Given the description of an element on the screen output the (x, y) to click on. 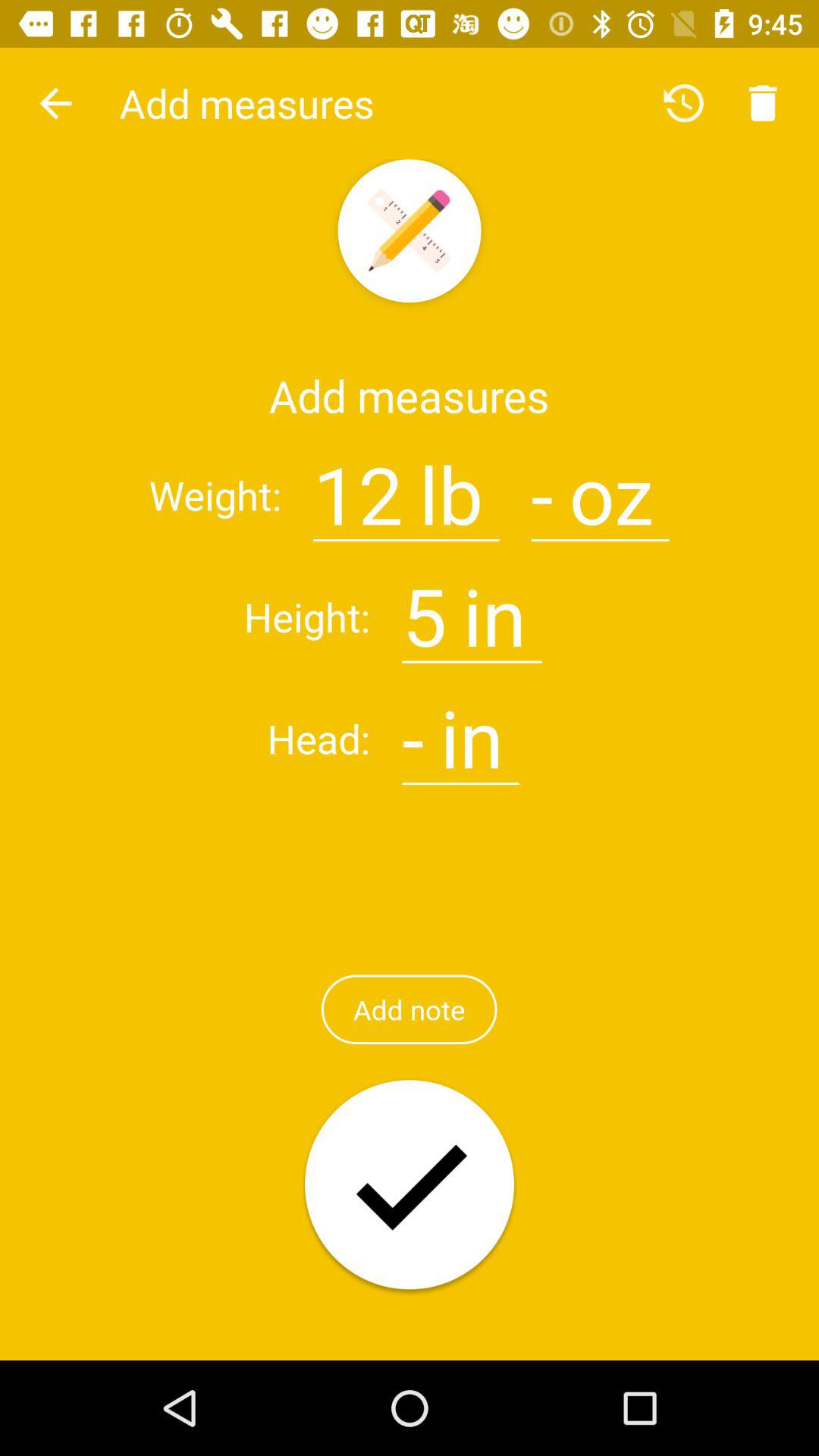
launch item to the right of : item (358, 485)
